Given the description of an element on the screen output the (x, y) to click on. 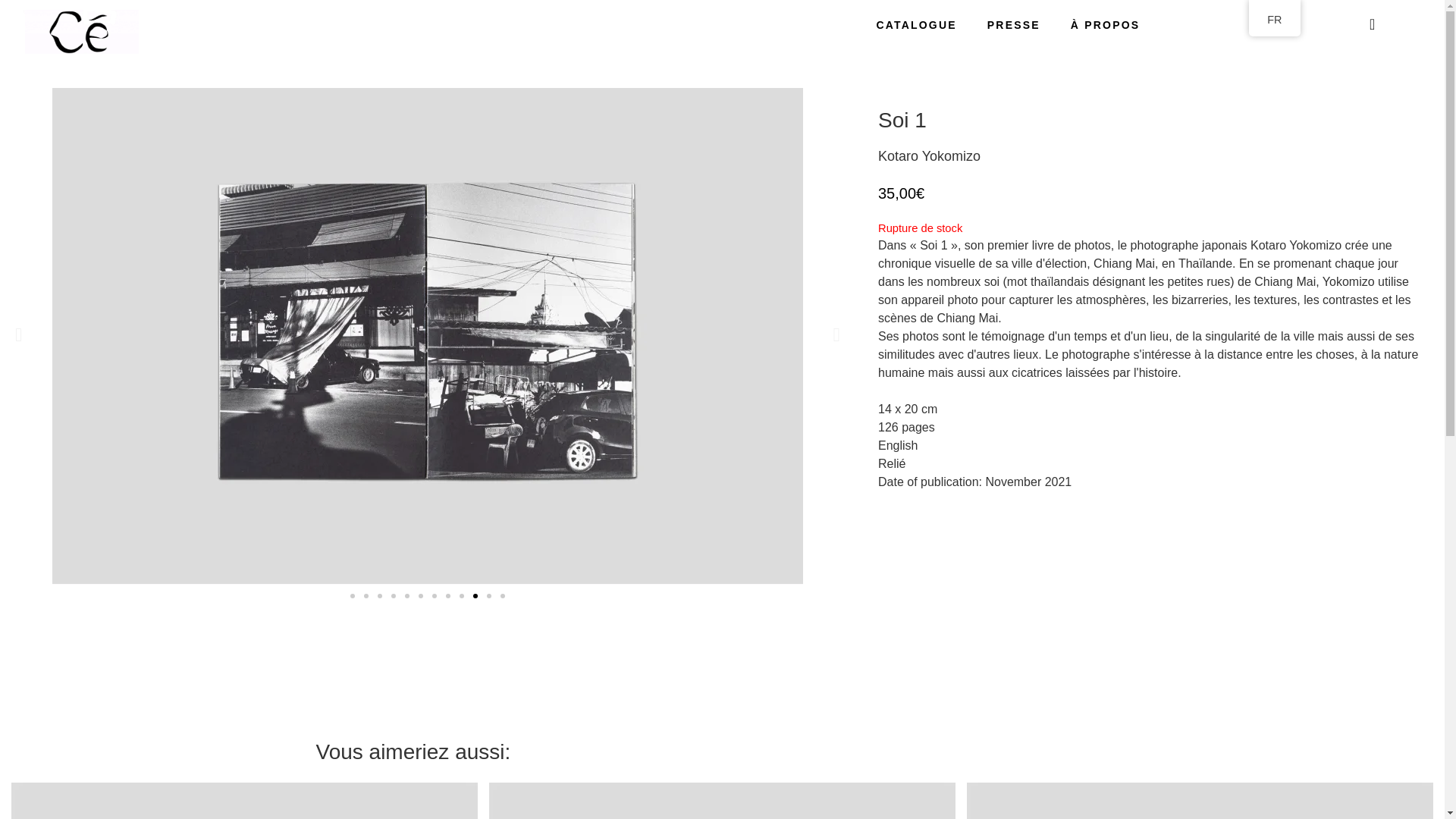
PRESSE (1013, 24)
CATALOGUE (915, 24)
FR (1274, 20)
